Given the description of an element on the screen output the (x, y) to click on. 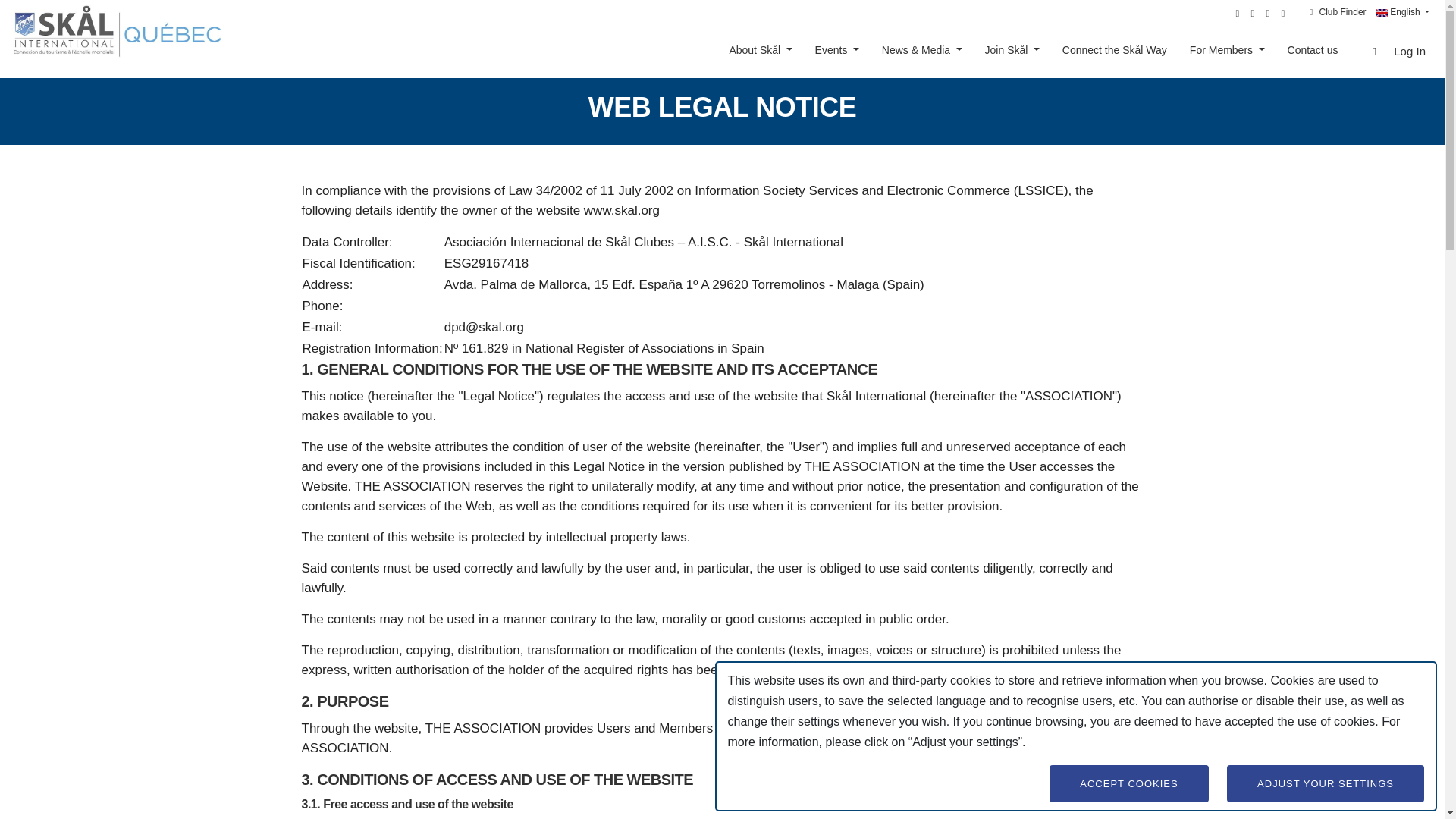
ADJUST YOUR SETTINGS (1325, 783)
ACCEPT COOKIES (1128, 783)
English (1381, 12)
